Given the description of an element on the screen output the (x, y) to click on. 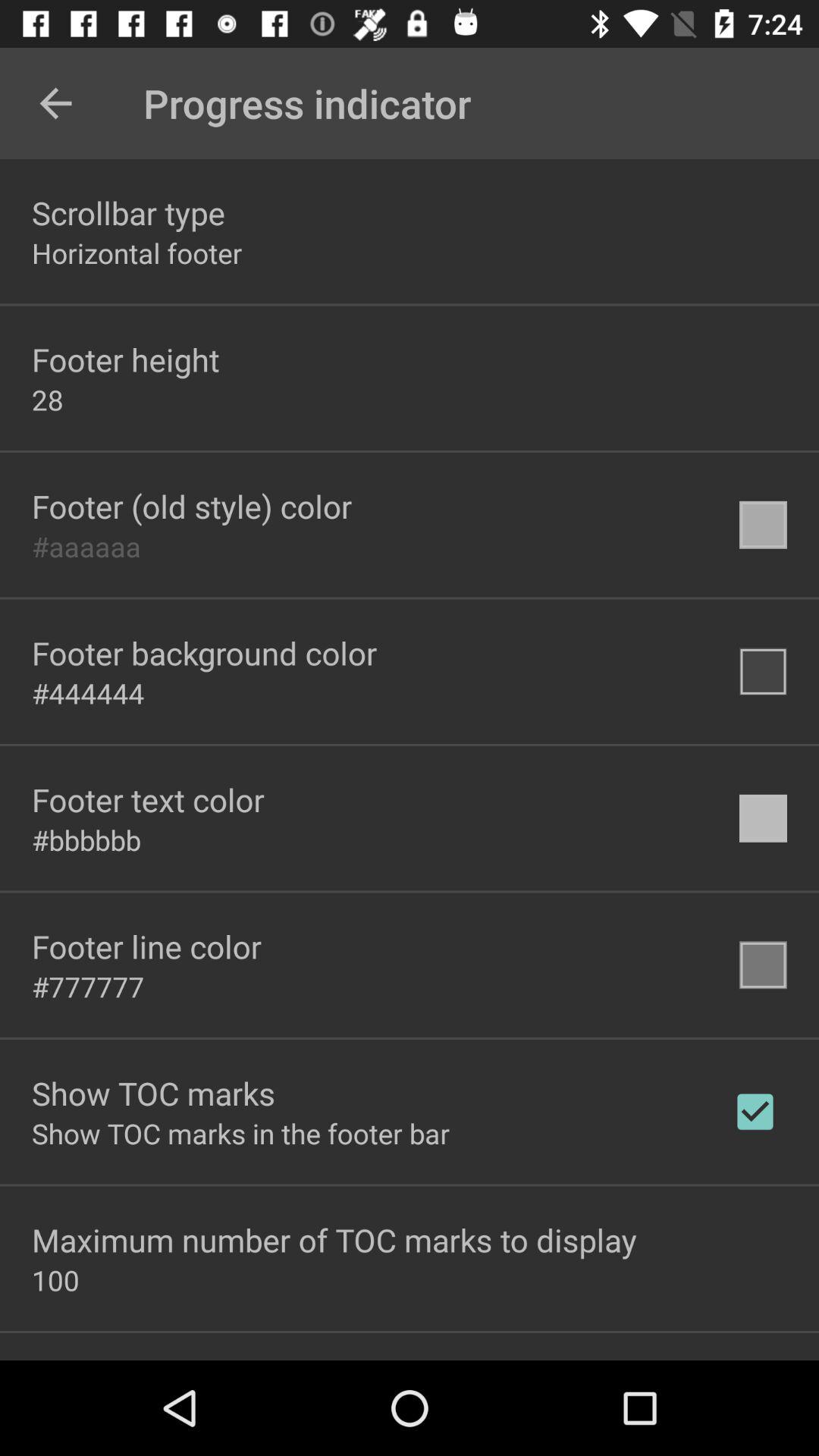
scroll to the #444444 icon (87, 693)
